Given the description of an element on the screen output the (x, y) to click on. 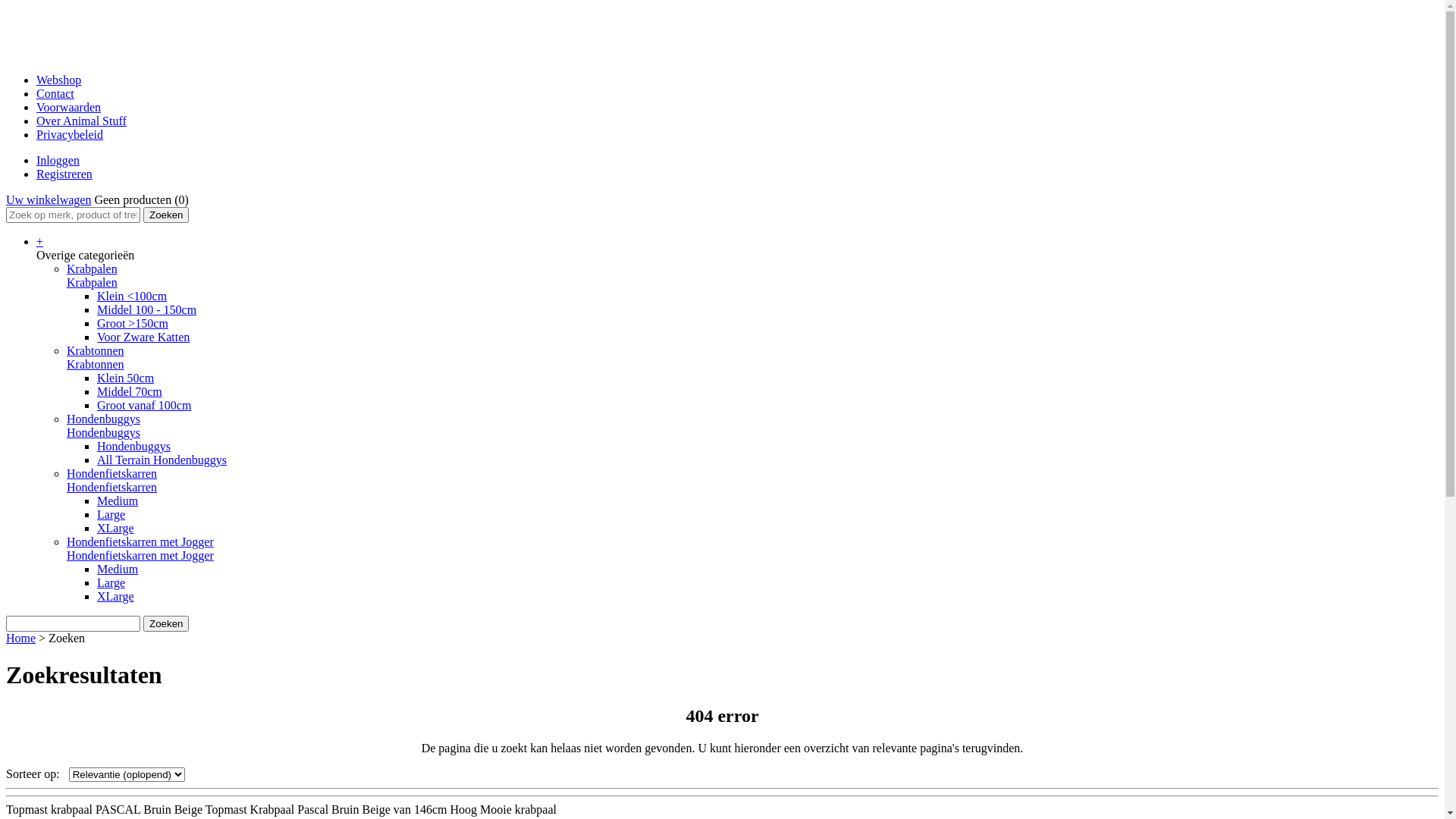
Krabpalen Element type: text (91, 268)
Registreren Element type: text (64, 173)
Hondenbuggys Element type: text (133, 445)
Zoeken Element type: text (165, 214)
All Terrain Hondenbuggys Element type: text (161, 459)
Hondenfietskarren Element type: text (111, 486)
Groot vanaf 100cm Element type: text (144, 404)
XLarge Element type: text (115, 527)
Klein 50cm Element type: text (125, 377)
Home Element type: text (20, 637)
Klein <100cm Element type: text (131, 295)
+ Element type: text (39, 241)
Hondenfietskarren Element type: text (111, 473)
Hondenbuggys Element type: text (103, 432)
Voorwaarden Element type: text (68, 106)
Krabpalen Element type: text (91, 282)
Hondenfietskarren met Jogger Element type: text (139, 555)
Krabtonnen Element type: text (95, 363)
Middel 100 - 150cm Element type: text (146, 309)
Hondenfietskarren met Jogger Element type: text (139, 541)
Uw winkelwagen Element type: text (48, 199)
XLarge Element type: text (115, 595)
Zoeken Element type: text (165, 623)
Contact Element type: text (55, 93)
Medium Element type: text (117, 500)
Webshop Element type: text (58, 79)
Large Element type: text (111, 514)
Middel 70cm Element type: text (129, 391)
Over Animal Stuff Element type: text (81, 120)
Large Element type: text (111, 582)
Krabtonnen Element type: text (95, 350)
Hondenbuggys Element type: text (103, 418)
Groot >150cm Element type: text (132, 322)
Medium Element type: text (117, 568)
Voor Zware Katten Element type: text (143, 336)
Privacybeleid Element type: text (69, 134)
Inloggen Element type: text (57, 159)
